Given the description of an element on the screen output the (x, y) to click on. 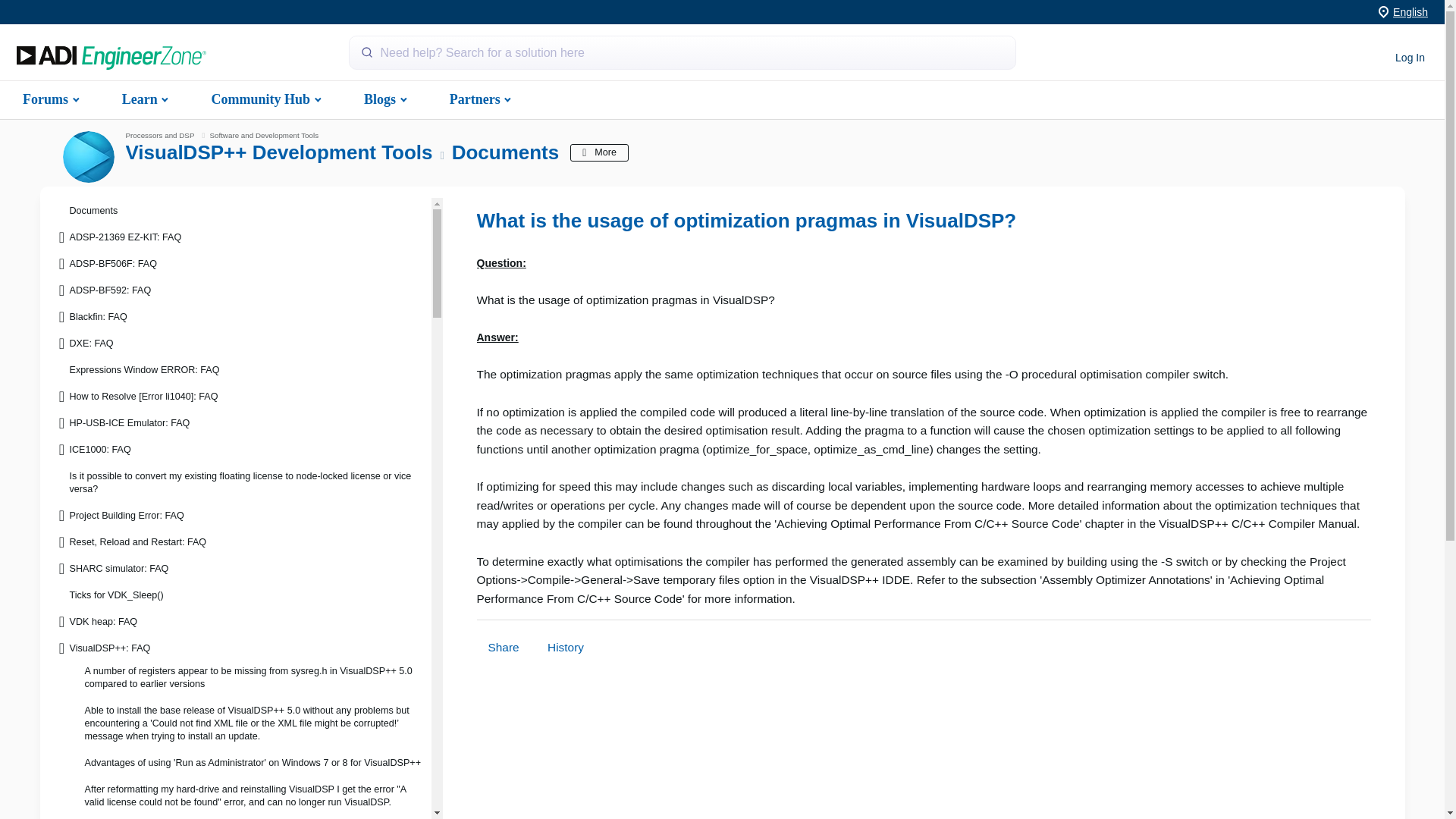
English (1410, 11)
Join or sign in (1409, 57)
Log In (1409, 57)
Forums (49, 98)
Home (111, 57)
